Given the description of an element on the screen output the (x, y) to click on. 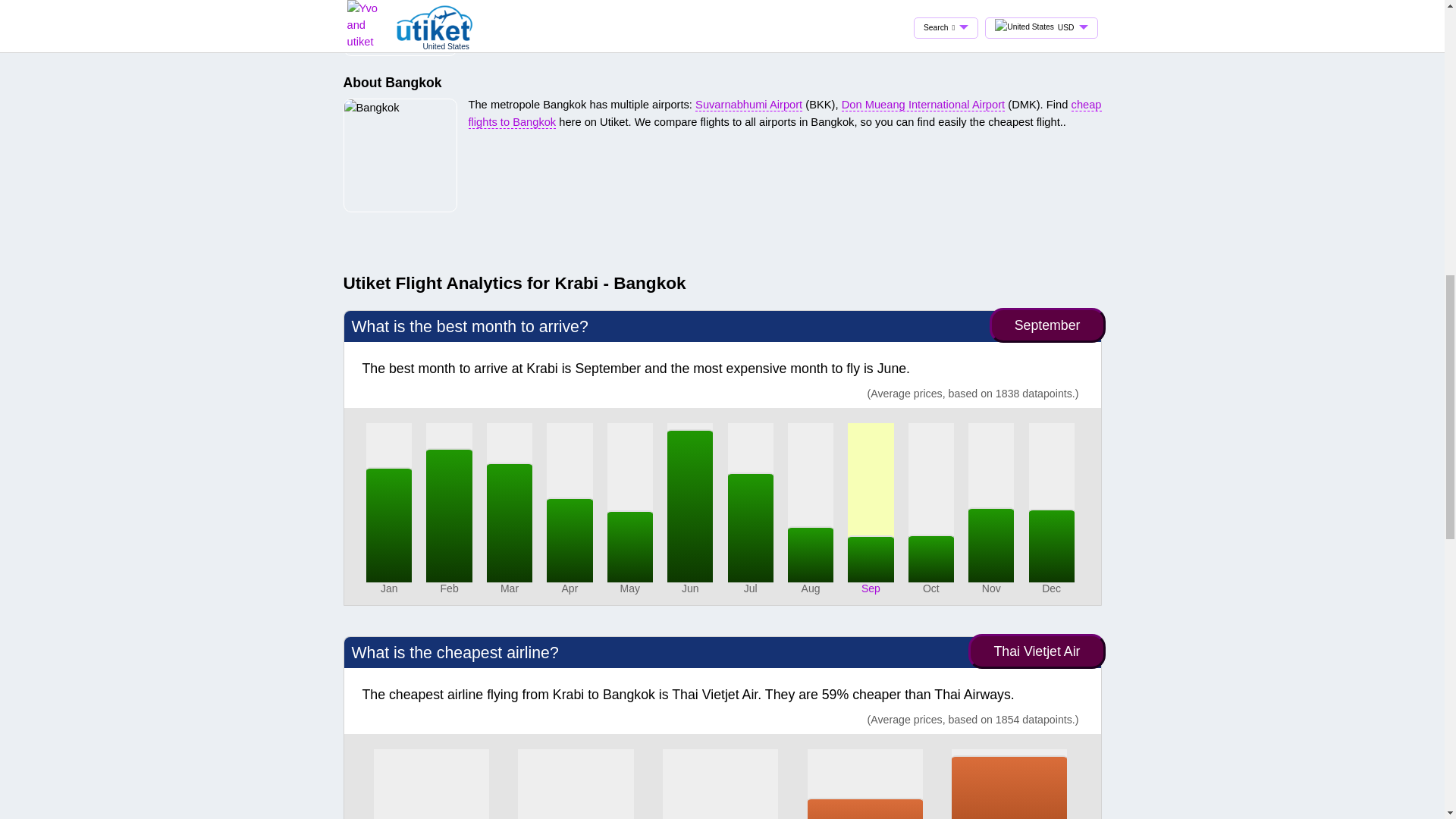
cheap flights to Bangkok (785, 113)
Suvarnabhumi Airport (748, 104)
Don Mueang International Airport (922, 104)
